Given the description of an element on the screen output the (x, y) to click on. 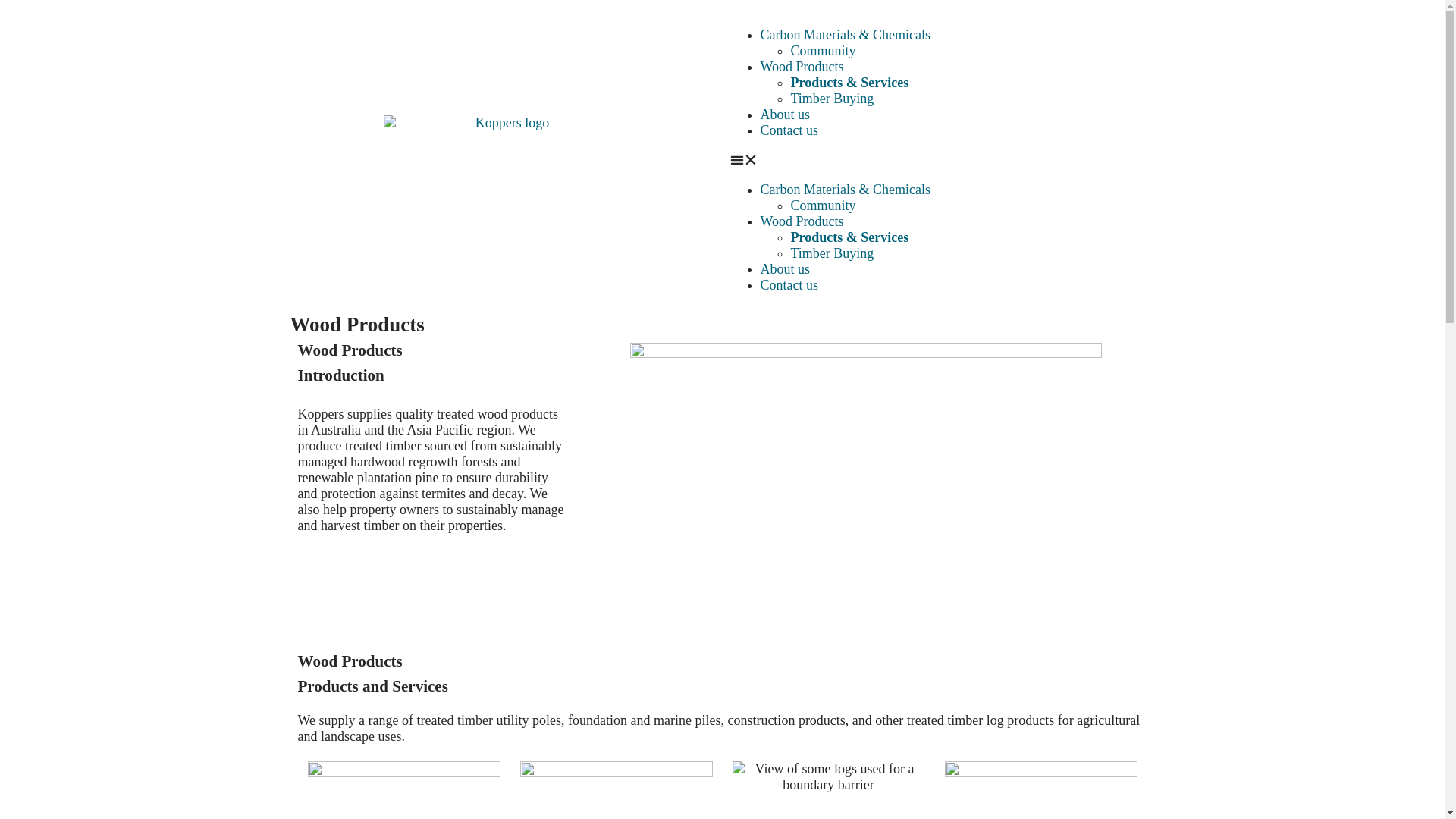
Community Element type: text (822, 205)
Products & Services Element type: text (849, 236)
Community Element type: text (822, 50)
Timber Buying Element type: text (831, 252)
Contact us Element type: text (788, 284)
Carbon Materials & Chemicals Element type: text (844, 34)
Products & Services Element type: text (849, 82)
Wood Products Element type: text (801, 66)
Carbon Materials & Chemicals Element type: text (844, 189)
Timber Buying Element type: text (831, 98)
About us Element type: text (784, 114)
About us Element type: text (784, 268)
Contact us Element type: text (788, 130)
Wood Products Element type: text (801, 221)
